Given the description of an element on the screen output the (x, y) to click on. 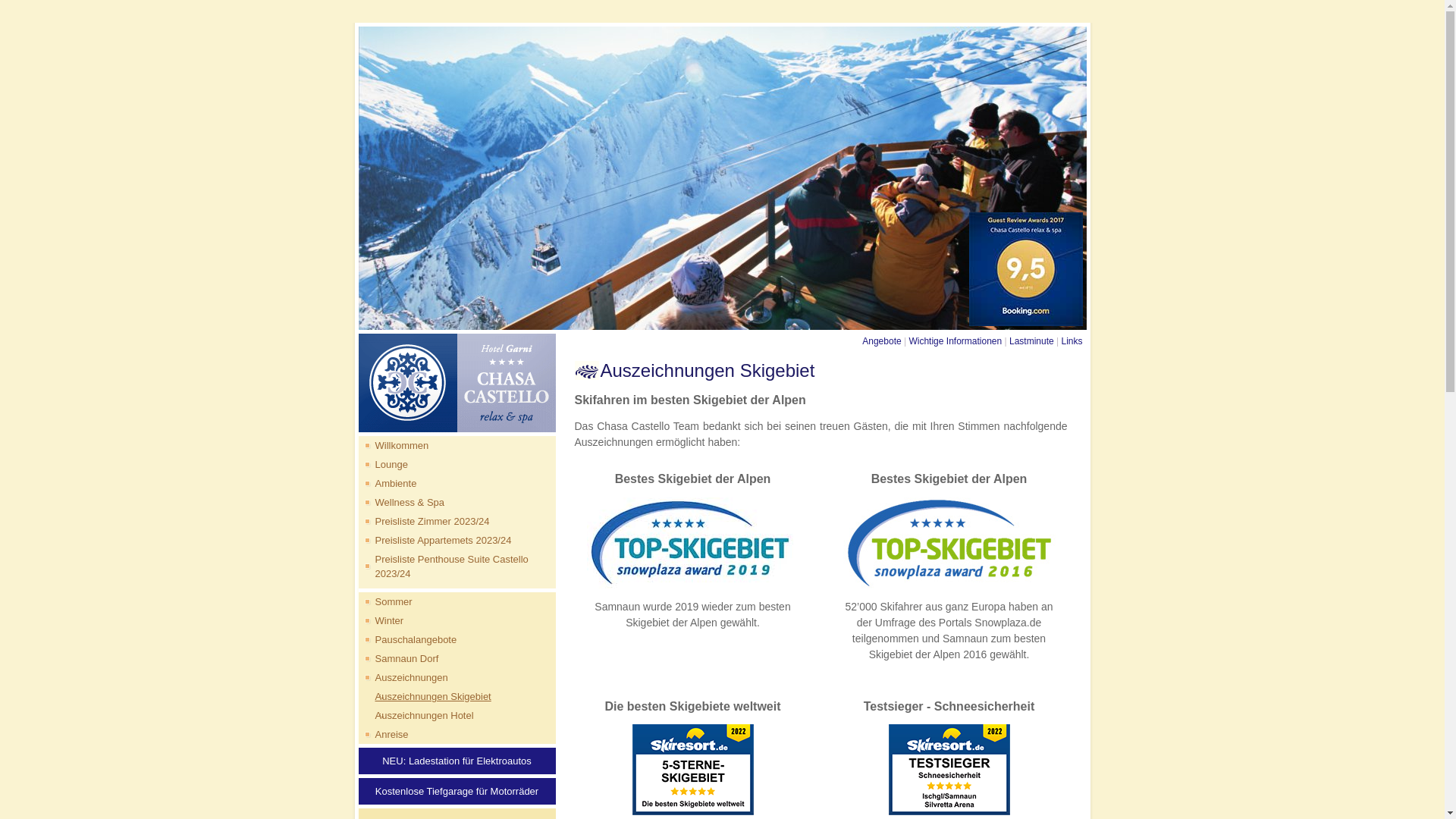
Samnaun Dorf Element type: text (397, 658)
Links Element type: text (1071, 340)
Winter Element type: text (380, 620)
Sommer Element type: text (384, 601)
Auszeichnungen Element type: text (402, 677)
Wellness & Spa Element type: text (400, 501)
Anreise Element type: text (382, 734)
Wichtige Informationen Element type: text (954, 340)
Preisliste Appartemets 2023/24 Element type: text (434, 539)
Preisliste Zimmer 2023/24 Element type: text (423, 520)
Auszeichnungen Skigebiet Element type: text (423, 696)
Angebote Element type: text (881, 340)
Auszeichnungen Hotel Element type: text (415, 715)
Hotel Garni Chasa Castello relax & spa Element type: hover (721, 177)
Lastminute Element type: text (1031, 340)
Lounge Element type: text (382, 464)
Preisliste Penthouse Suite Castello 2023/24 Element type: text (456, 566)
Ambiente Element type: text (386, 482)
Pauschalangebote Element type: text (406, 639)
Willkommen Element type: text (392, 445)
